Given the description of an element on the screen output the (x, y) to click on. 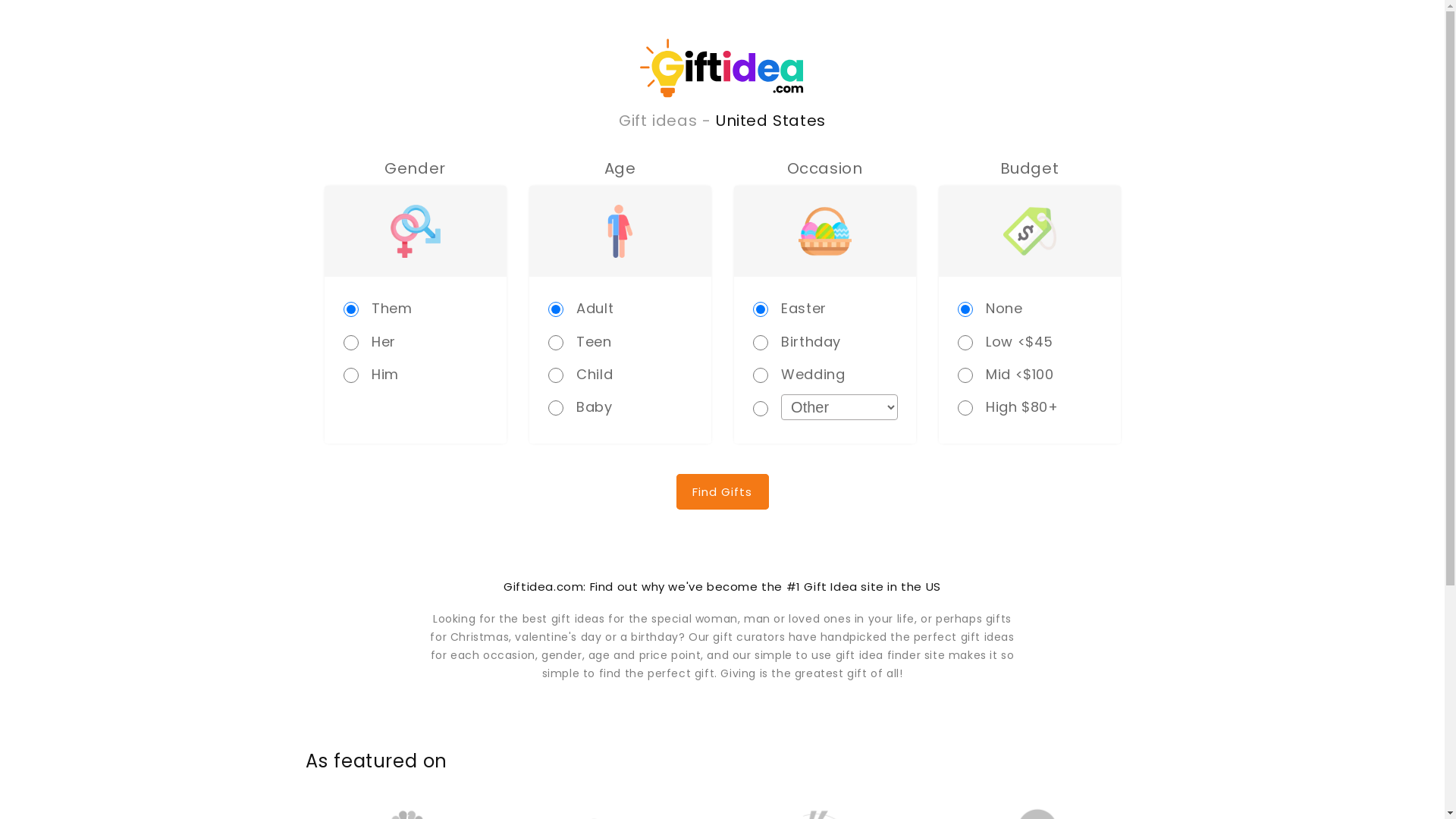
United States Element type: text (770, 120)
Find Gifts Element type: text (722, 491)
